Given the description of an element on the screen output the (x, y) to click on. 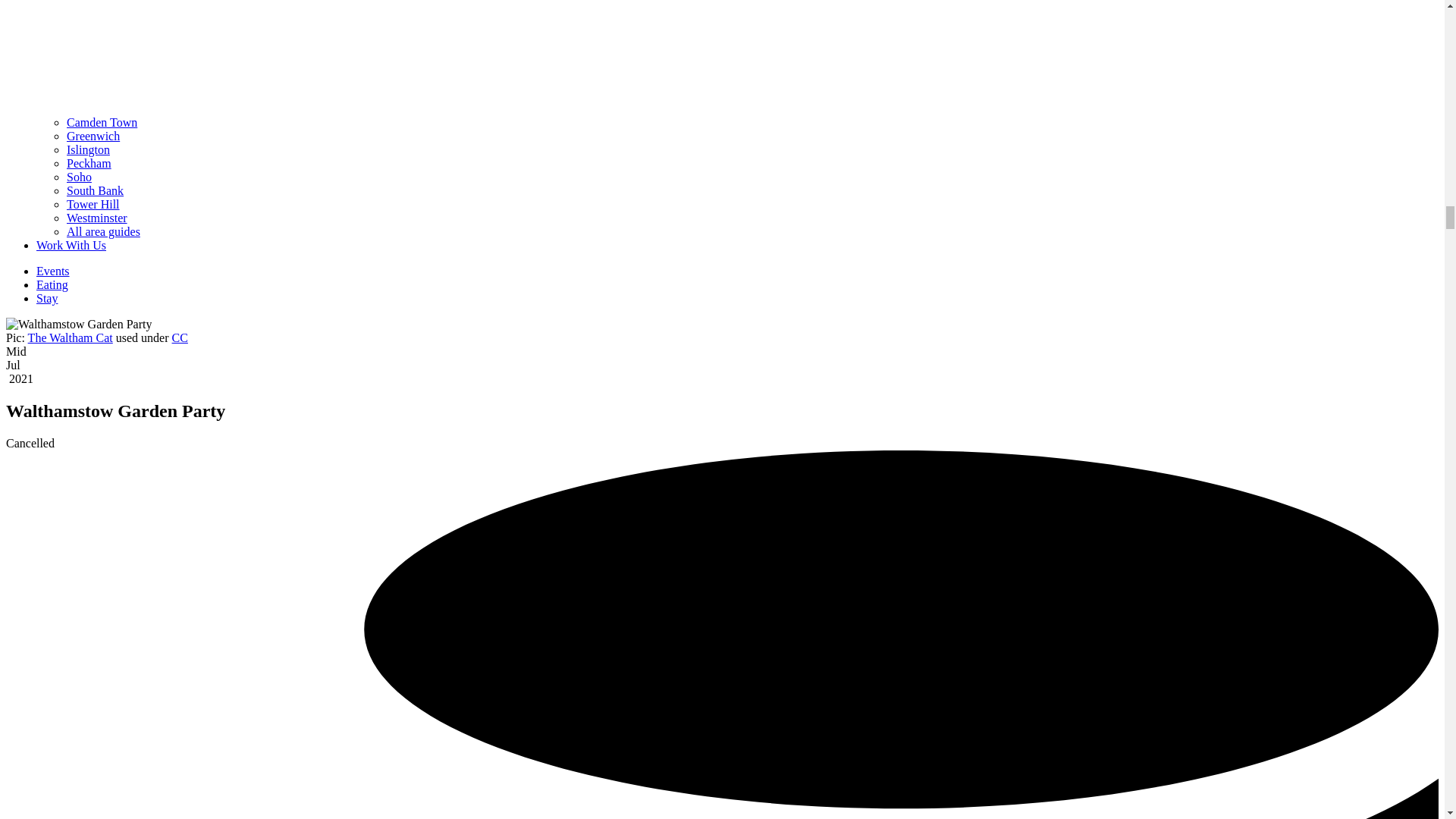
Islington (88, 149)
Greenwich (92, 135)
Soho (78, 176)
South Bank (94, 190)
Camden Town (101, 122)
Westminster (97, 217)
All area guides (102, 231)
Peckham (89, 163)
Tower Hill (92, 204)
